Given the description of an element on the screen output the (x, y) to click on. 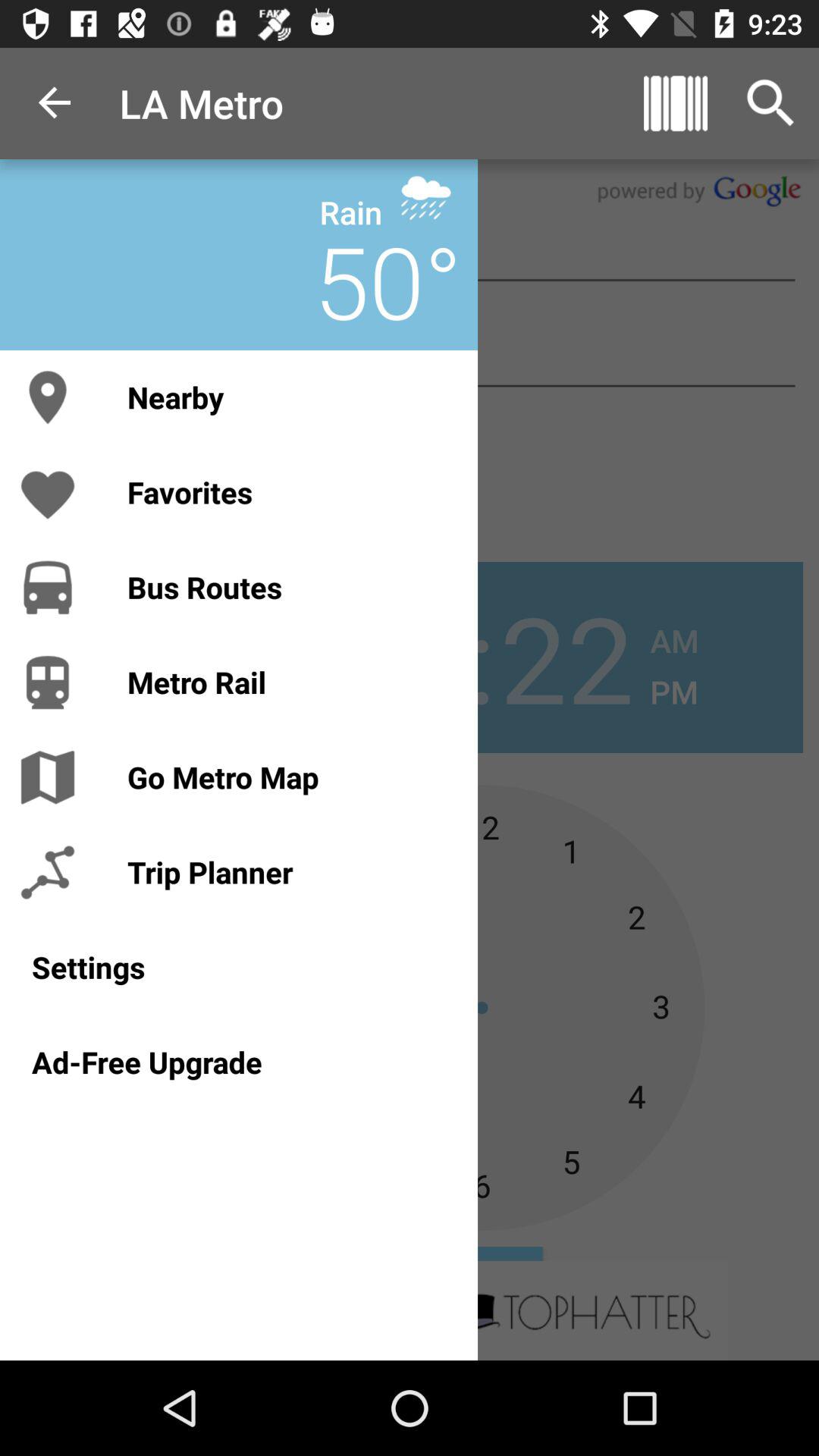
select the number 22 (566, 657)
click on cloud icon right to rain (425, 196)
